Given the description of an element on the screen output the (x, y) to click on. 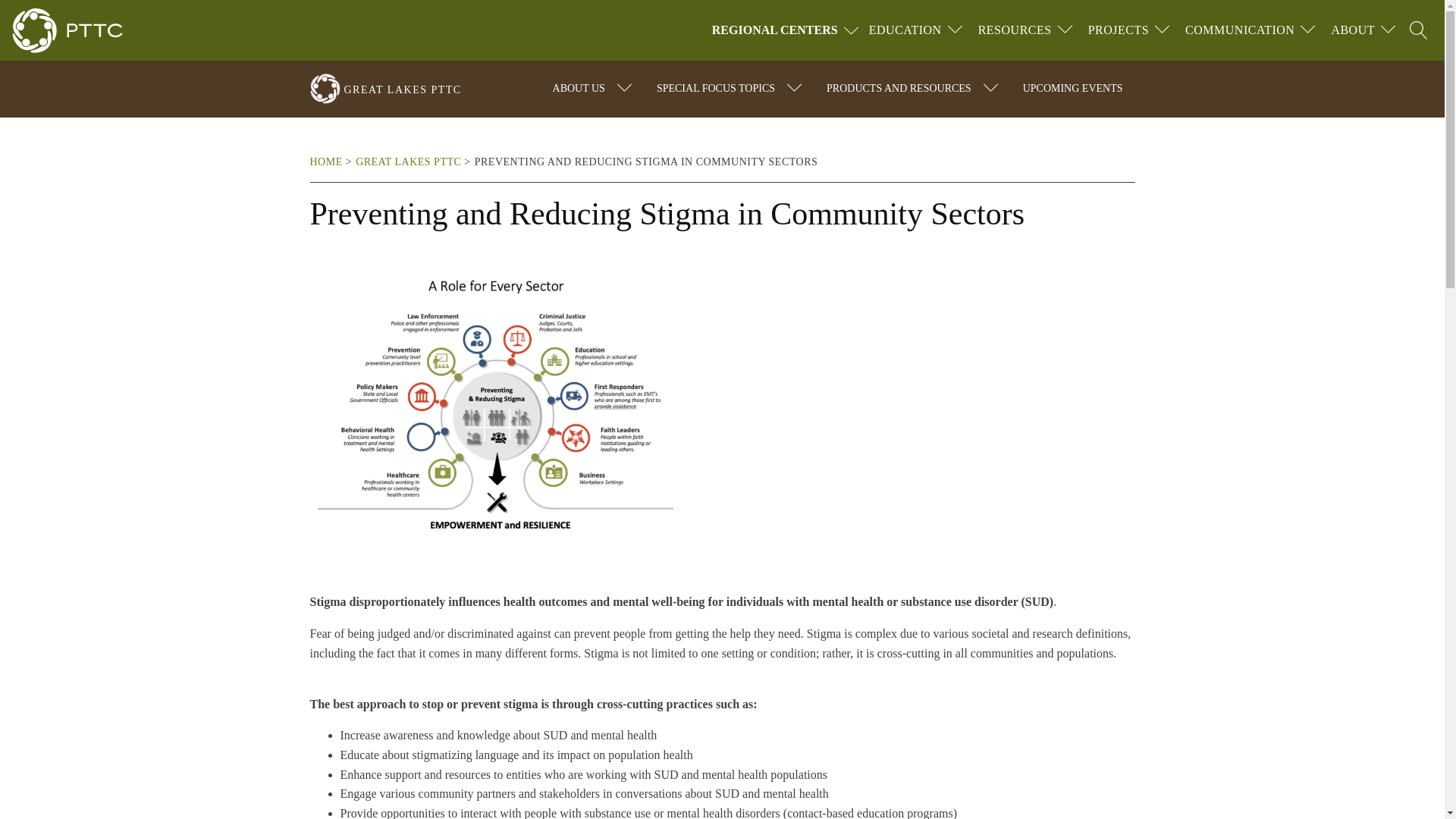
PROJECTS (1117, 30)
REGIONAL CENTERS (787, 30)
EDUCATION (905, 30)
RESOURCES (1015, 30)
